Given the description of an element on the screen output the (x, y) to click on. 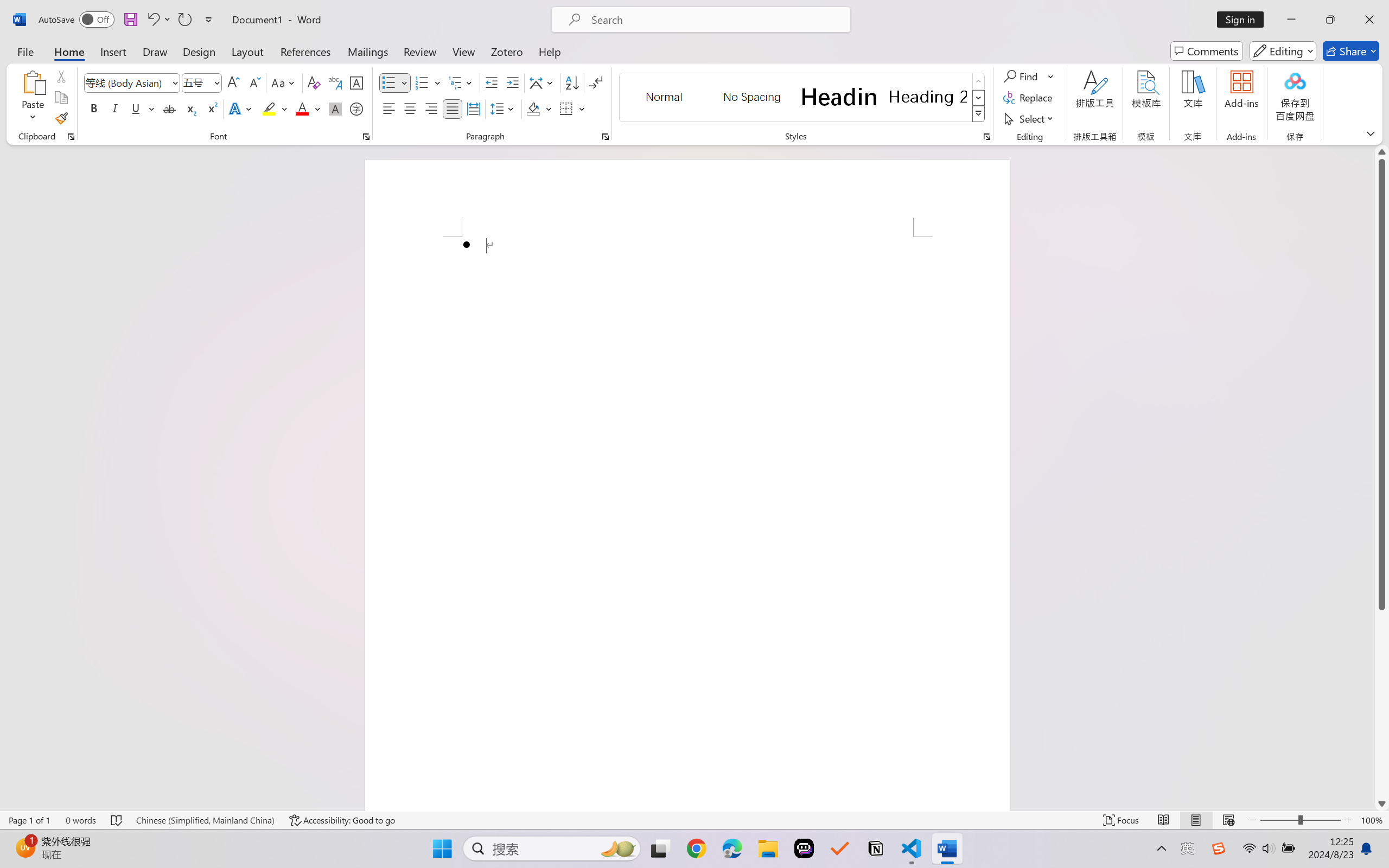
Repeat Bullet Default (184, 19)
Undo Bullet Default (152, 19)
Language Chinese (Simplified, Mainland China) (205, 819)
Undo Bullet Default (158, 19)
